Given the description of an element on the screen output the (x, y) to click on. 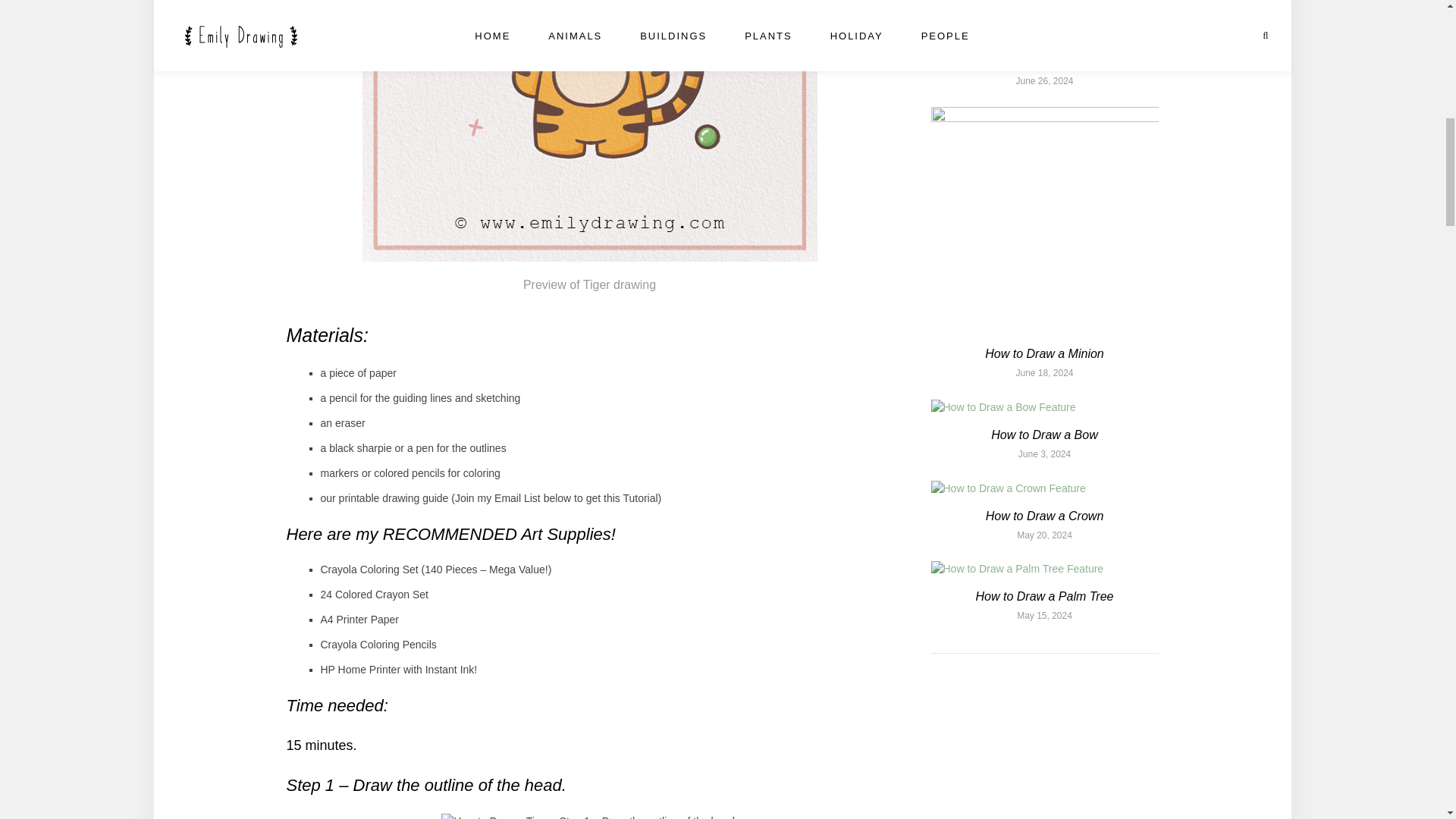
How to Draw a Crown (1044, 515)
How to Draw a Palm Tree (1044, 595)
How to Draw a Bow (1044, 434)
How to Draw a Minion (1044, 353)
How to Draw a Mouse (1044, 61)
